Given the description of an element on the screen output the (x, y) to click on. 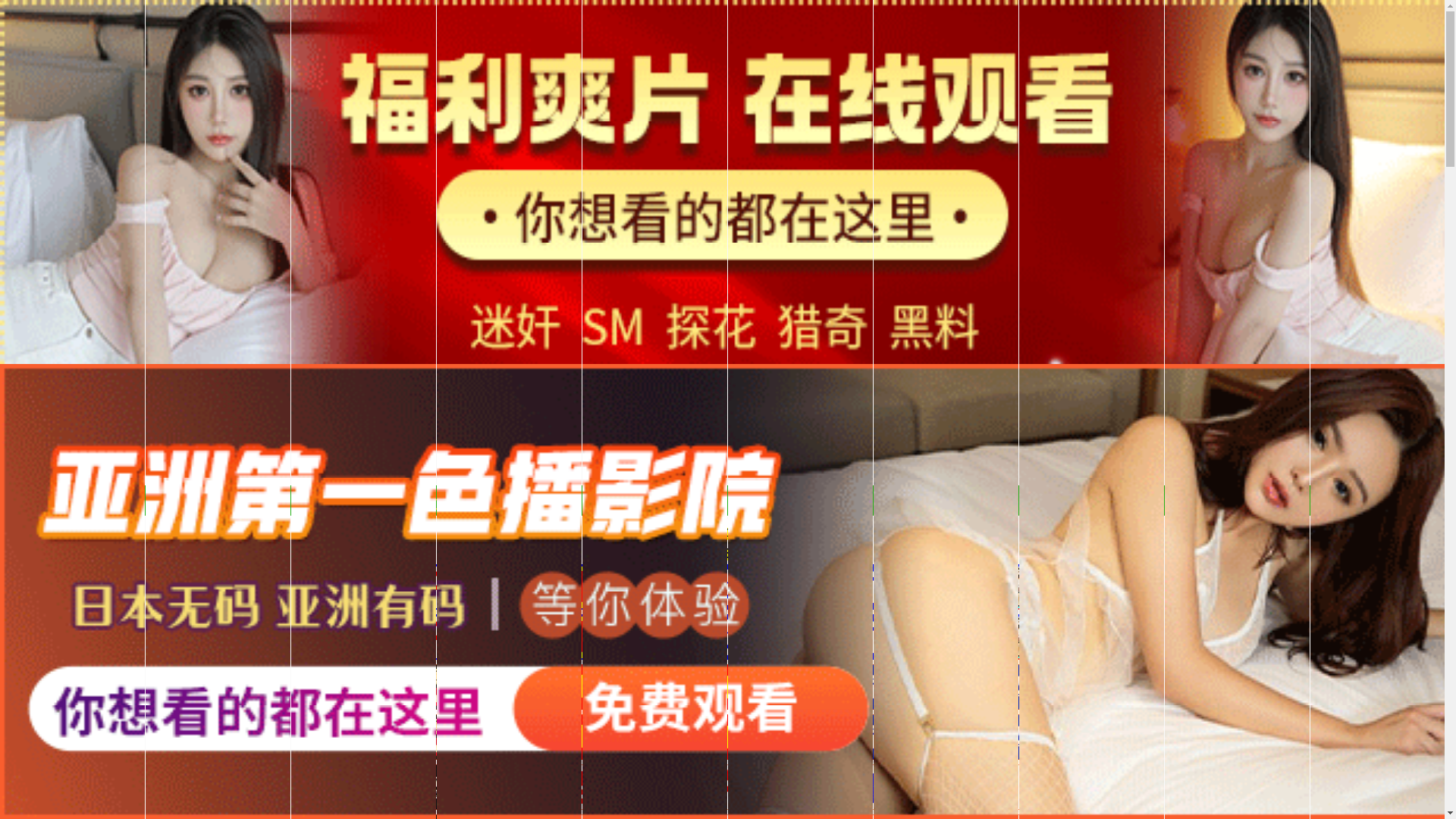
3322av.COM Element type: text (411, 503)
